Given the description of an element on the screen output the (x, y) to click on. 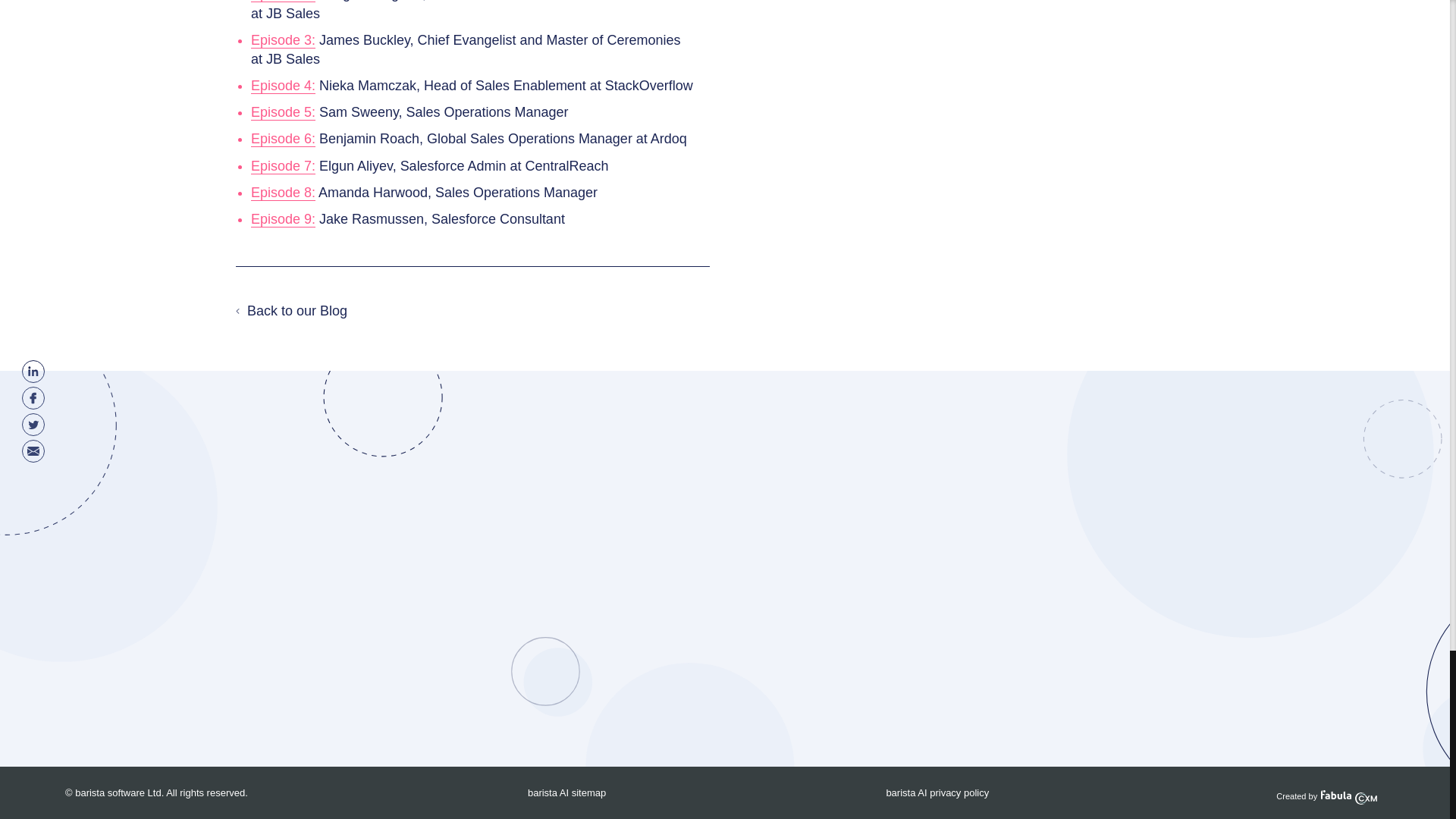
Episode 6: (282, 139)
Episode 3: (282, 40)
Episode 2: (282, 1)
Episode 4: (282, 85)
barista AI sitemap (566, 792)
Back to our Blog (291, 310)
Episode 5: (282, 112)
Episode 8: (282, 192)
barista AI privacy policy (936, 792)
Episode 9: (282, 219)
Episode 7: (282, 166)
